Given the description of an element on the screen output the (x, y) to click on. 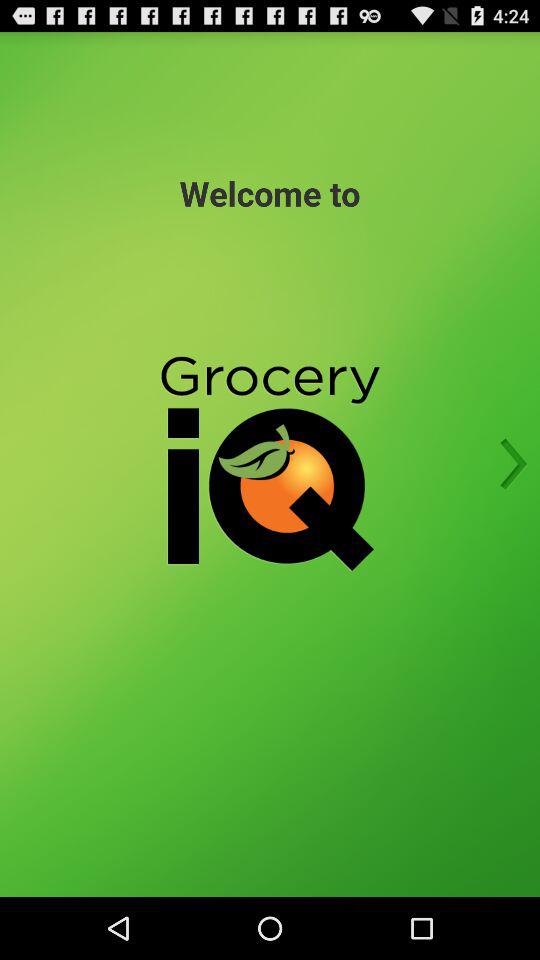
open the item on the right (507, 464)
